Given the description of an element on the screen output the (x, y) to click on. 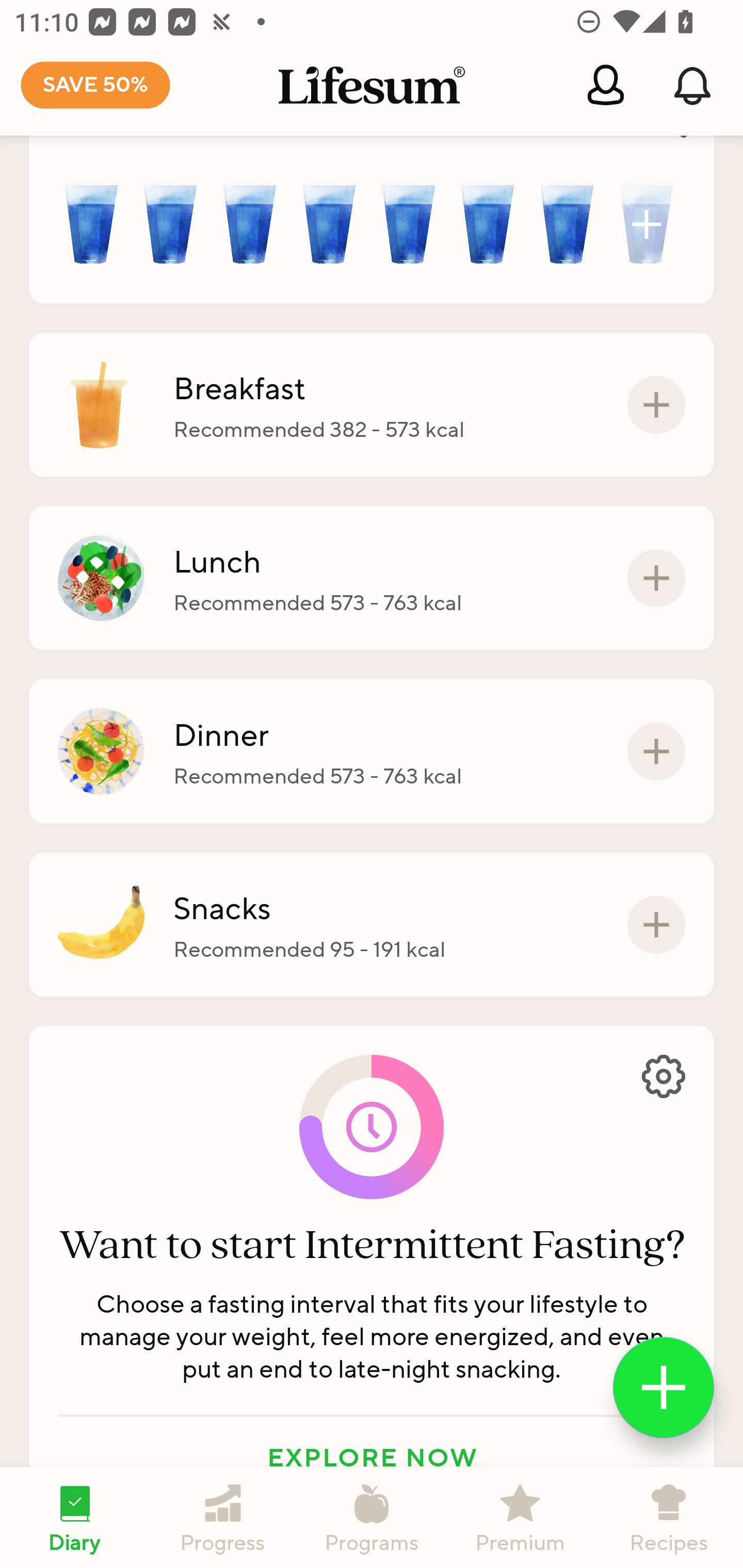
Breakfast Recommended 382 - 573 kcal (371, 404)
Lunch Recommended 573 - 763 kcal (371, 578)
Dinner Recommended 573 - 763 kcal (371, 750)
Snacks Recommended 95 - 191 kcal (371, 924)
EXPLORE NOW (371, 1457)
Progress (222, 1517)
Programs (371, 1517)
Premium (519, 1517)
Recipes (668, 1517)
